Given the description of an element on the screen output the (x, y) to click on. 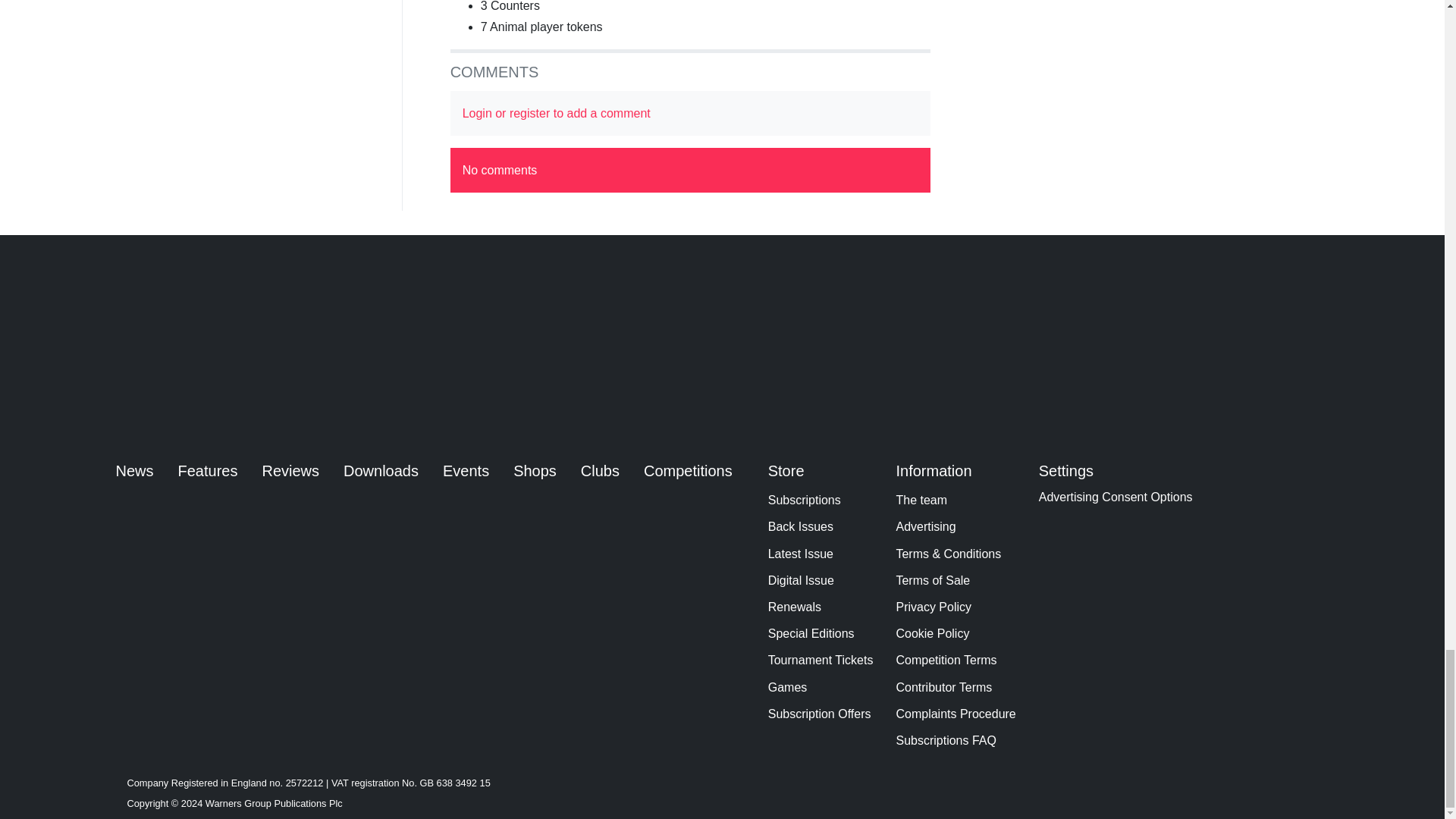
View your Advertising Consent options for this website (1115, 496)
